Given the description of an element on the screen output the (x, y) to click on. 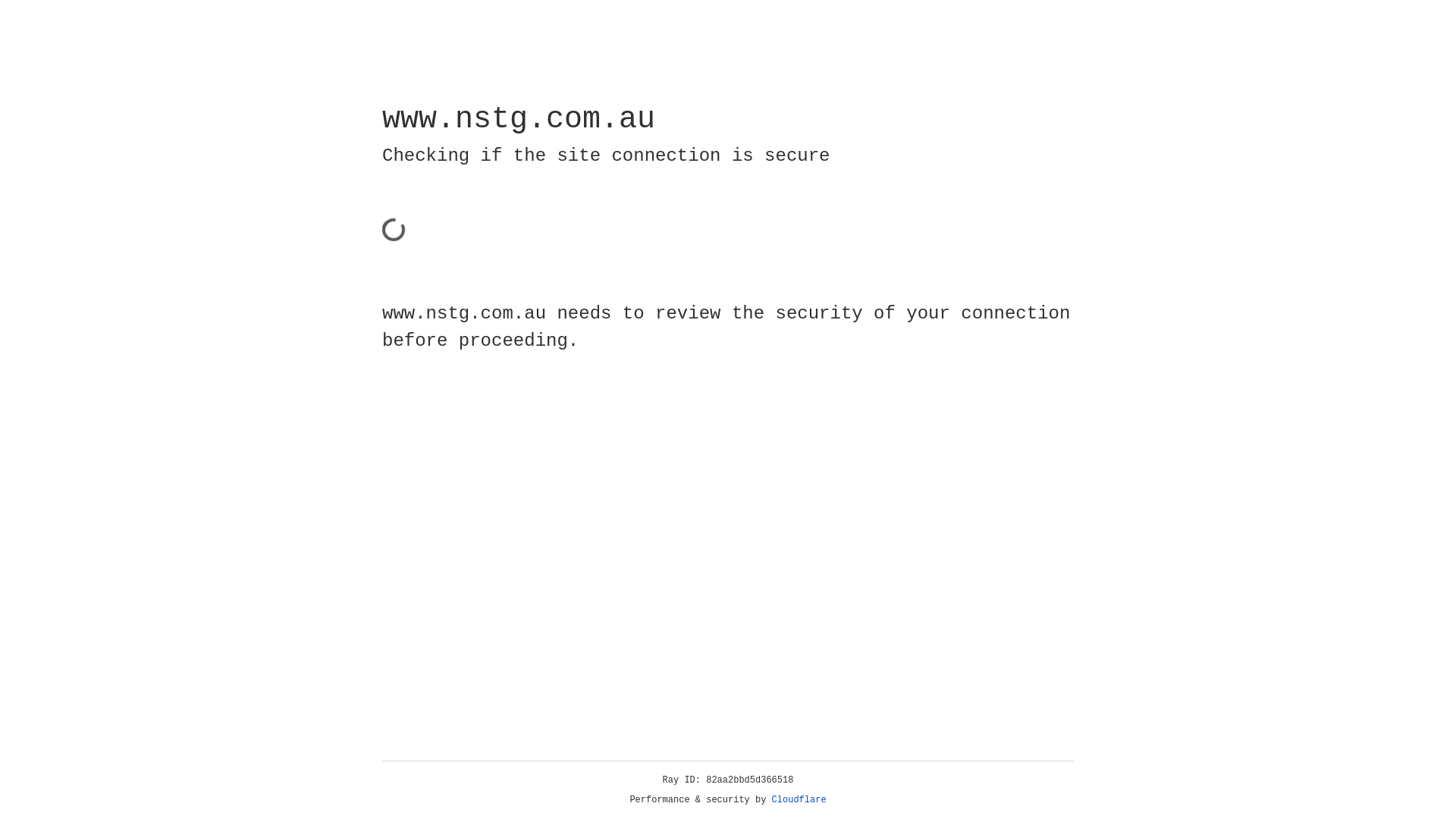
Cloudflare Element type: text (798, 799)
